Given the description of an element on the screen output the (x, y) to click on. 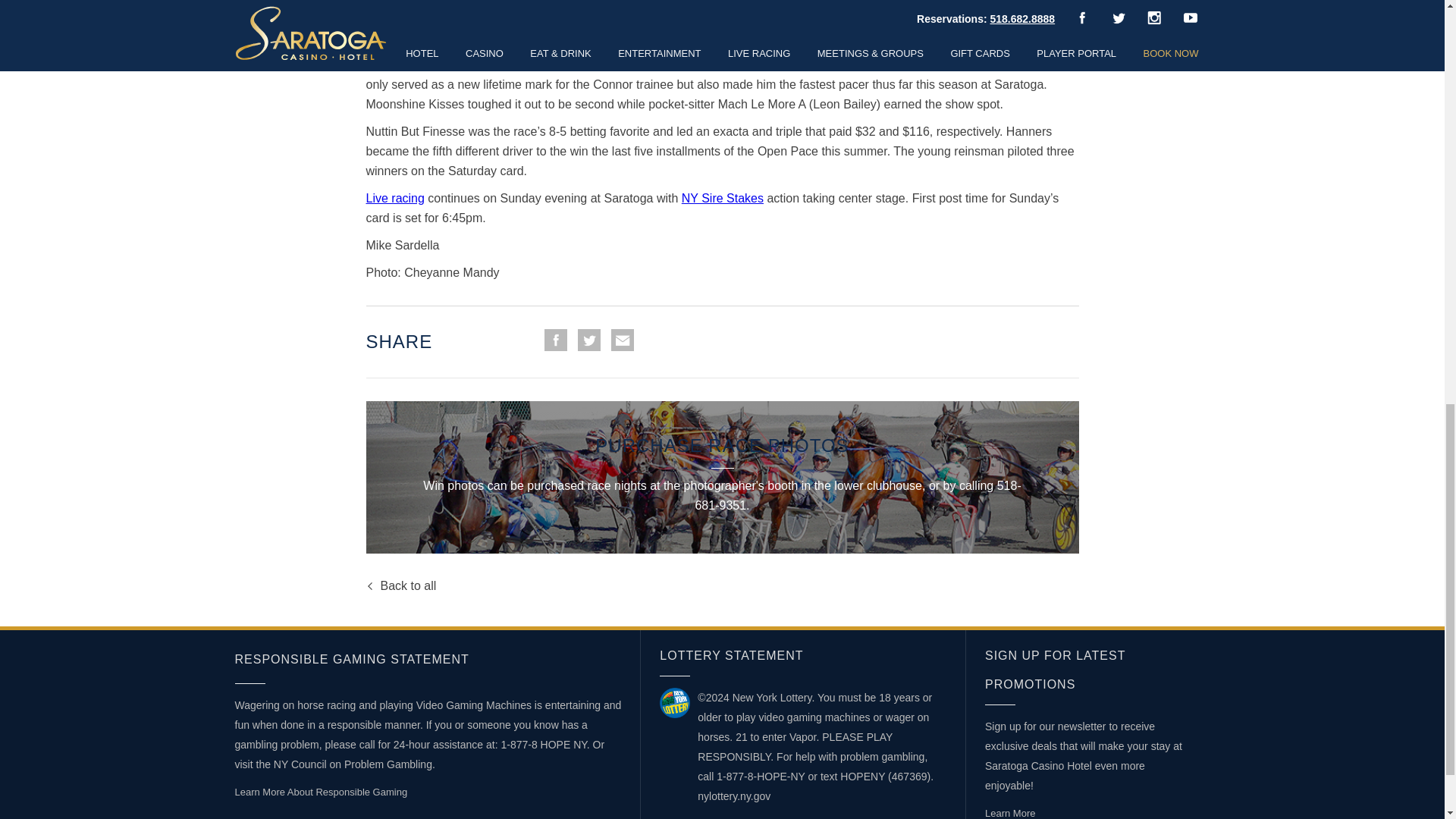
Tweet this item (588, 340)
Email a Friend (622, 340)
NY Sire Stakes (721, 197)
Share on Facebook (555, 340)
Back to all (400, 585)
Live racing (394, 197)
